Given the description of an element on the screen output the (x, y) to click on. 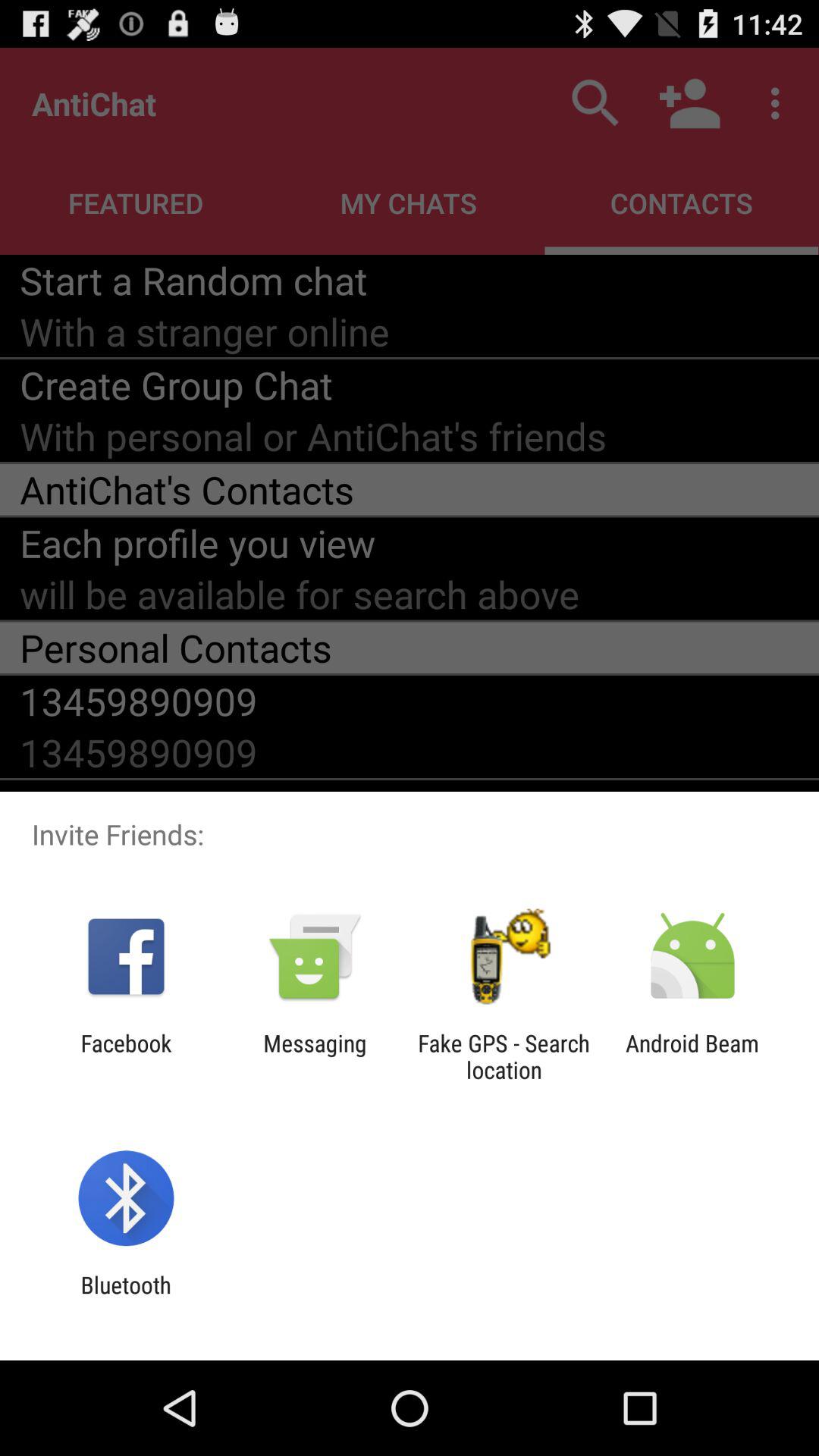
tap the item to the right of facebook app (314, 1056)
